Given the description of an element on the screen output the (x, y) to click on. 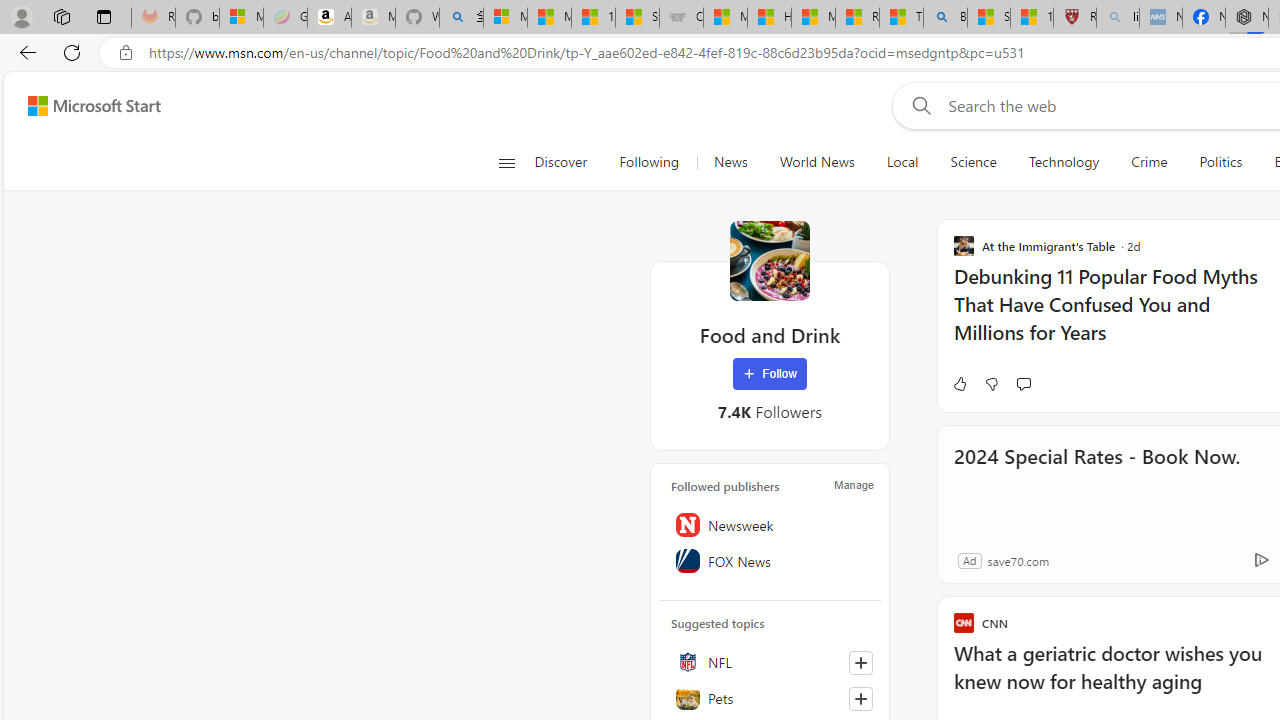
Robert H. Shmerling, MD - Harvard Health (1074, 17)
FOX News (770, 561)
